Given the description of an element on the screen output the (x, y) to click on. 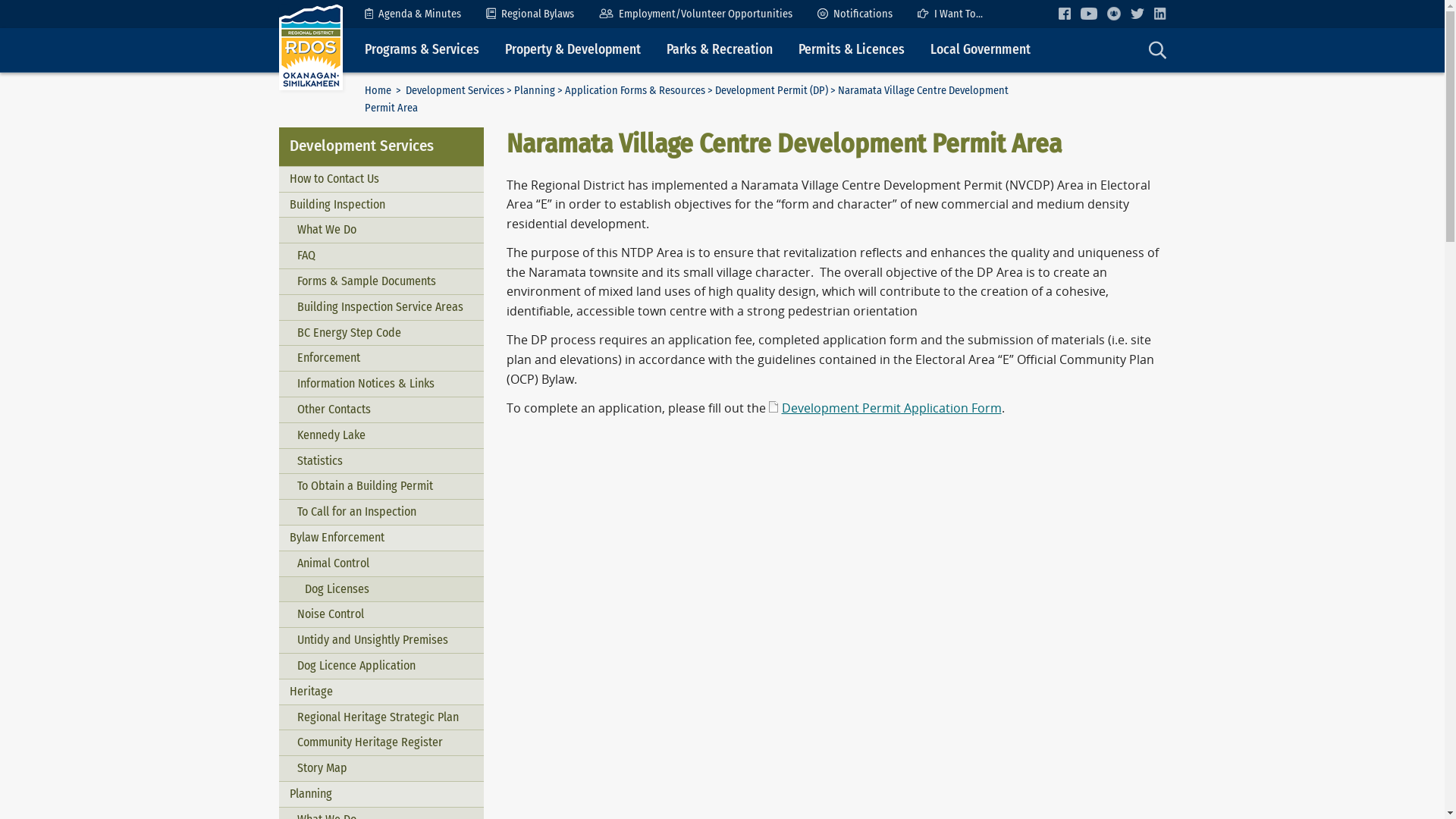
Application Forms & Resources Element type: text (634, 90)
Dog Licence Application Element type: text (381, 665)
Building Inspection Element type: text (381, 204)
Bylaw Enforcement Element type: text (381, 537)
Local Government Element type: text (980, 49)
Employment/Volunteer Opportunities Element type: text (695, 14)
Development Services Element type: text (453, 90)
FAQ Element type: text (381, 255)
Regional Heritage Strategic Plan Element type: text (381, 717)
Facebook Element type: hover (1064, 12)
Planning Element type: text (381, 793)
RDOS - Regional District of Okanagan-Similkameen Element type: hover (310, 46)
Agenda & Minutes Element type: text (412, 14)
Permits & Licences Element type: text (851, 49)
Parks & Recreation Element type: text (719, 49)
CivicReady Element type: hover (1113, 13)
To Obtain a Building Permit Element type: text (381, 485)
Home Element type: text (377, 90)
Skip to Content Element type: text (0, 0)
Forms & Sample Documents Element type: text (381, 281)
Animal Control Element type: text (381, 563)
Kennedy Lake Element type: text (381, 435)
Twitter Element type: hover (1136, 12)
To Call for an Inspection Element type: text (381, 511)
Community Heritage Register Element type: text (381, 742)
Development Permit Application Form Element type: text (884, 408)
Property & Development Element type: text (571, 49)
LinkedIn Element type: hover (1160, 12)
YouTube Element type: hover (1087, 12)
Regional Bylaws Element type: text (529, 14)
I Want To... Element type: text (950, 14)
Programs & Services Element type: text (421, 49)
Dog Licenses Element type: text (381, 589)
Story Map Element type: text (381, 768)
Notifications Element type: text (854, 14)
BC Energy Step Code Element type: text (381, 332)
Development Permit (DP) Element type: text (770, 90)
What We Do Element type: text (381, 229)
Information Notices & Links Element type: text (381, 383)
Untidy and Unsightly Premises Element type: text (381, 639)
Statistics Element type: text (381, 460)
Planning Element type: text (534, 90)
Heritage Element type: text (381, 691)
Enforcement Element type: text (381, 357)
Building Inspection Service Areas Element type: text (381, 307)
Noise Control Element type: text (381, 614)
How to Contact Us Element type: text (381, 178)
Other Contacts Element type: text (381, 409)
